Given the description of an element on the screen output the (x, y) to click on. 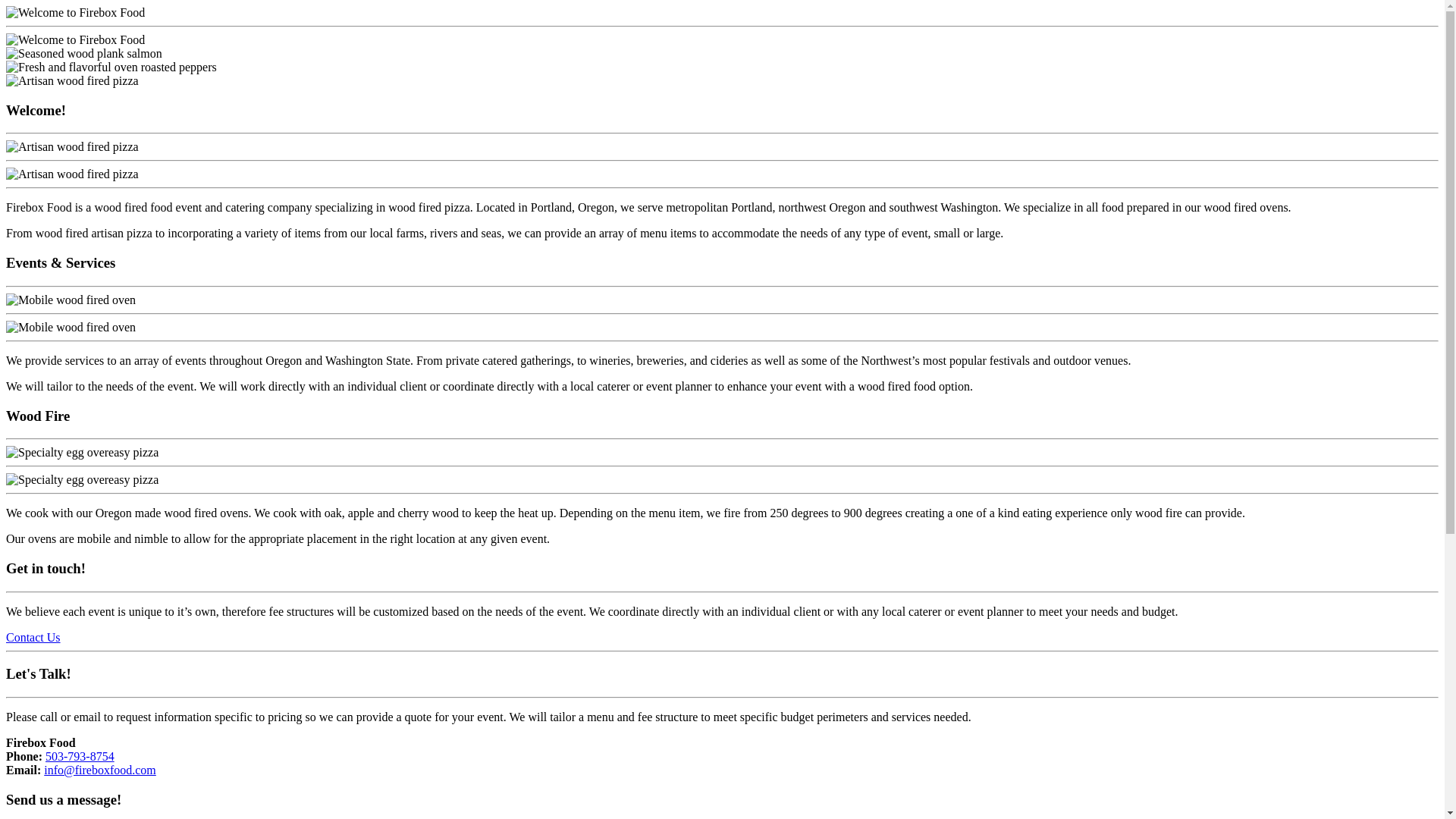
503-793-8754 Element type: text (79, 755)
Contact Us Element type: text (33, 636)
Firebox Food | Wood Fired Pizza Element type: hover (75, 12)
info@fireboxfood.com Element type: text (99, 769)
Firebox Food | Wood Fired Pizza Element type: hover (75, 40)
